Given the description of an element on the screen output the (x, y) to click on. 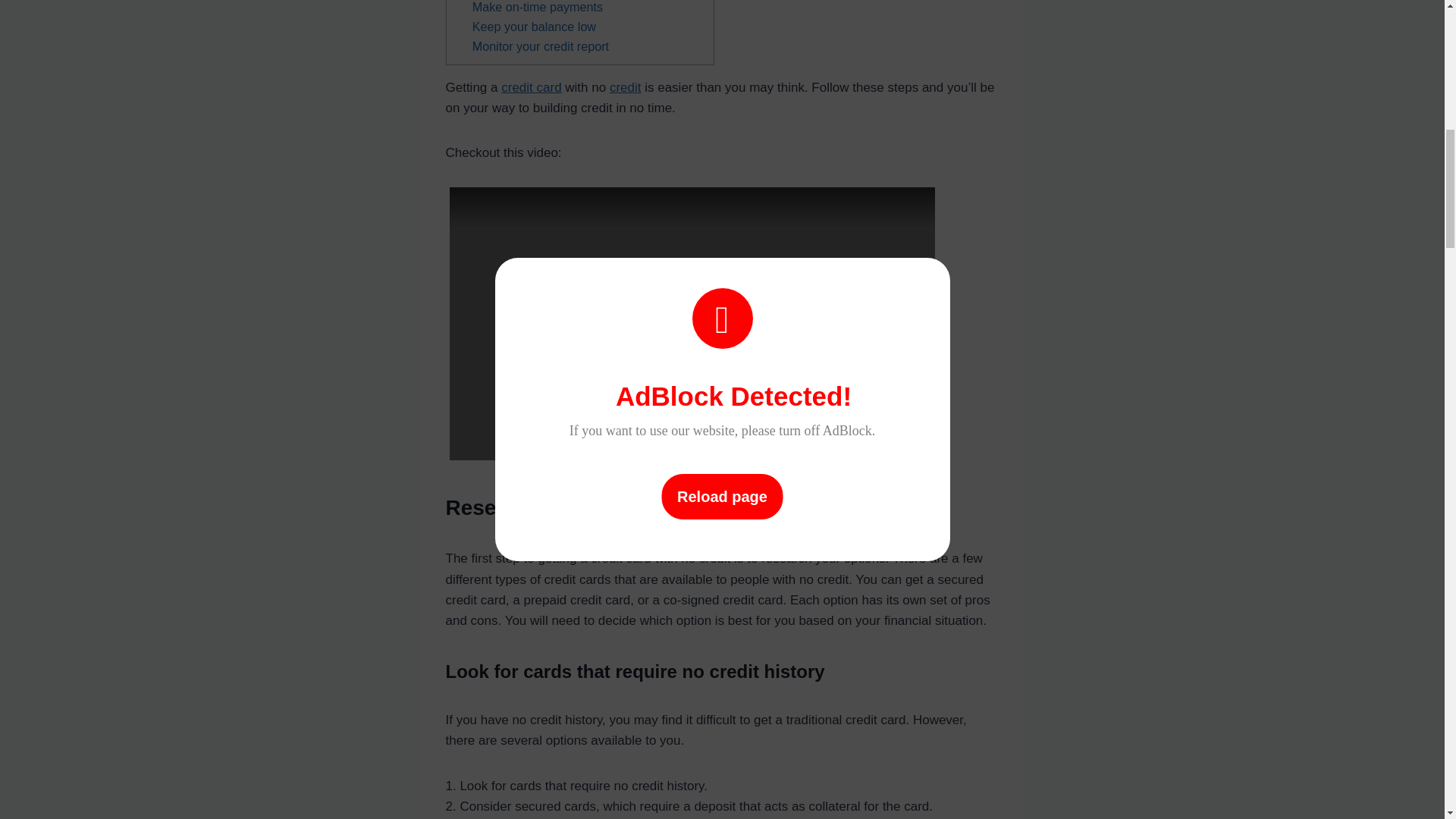
Keep your balance low (533, 26)
Make on-time payments (536, 6)
Monitor your credit report (539, 46)
credit card (530, 87)
credit (626, 87)
